Given the description of an element on the screen output the (x, y) to click on. 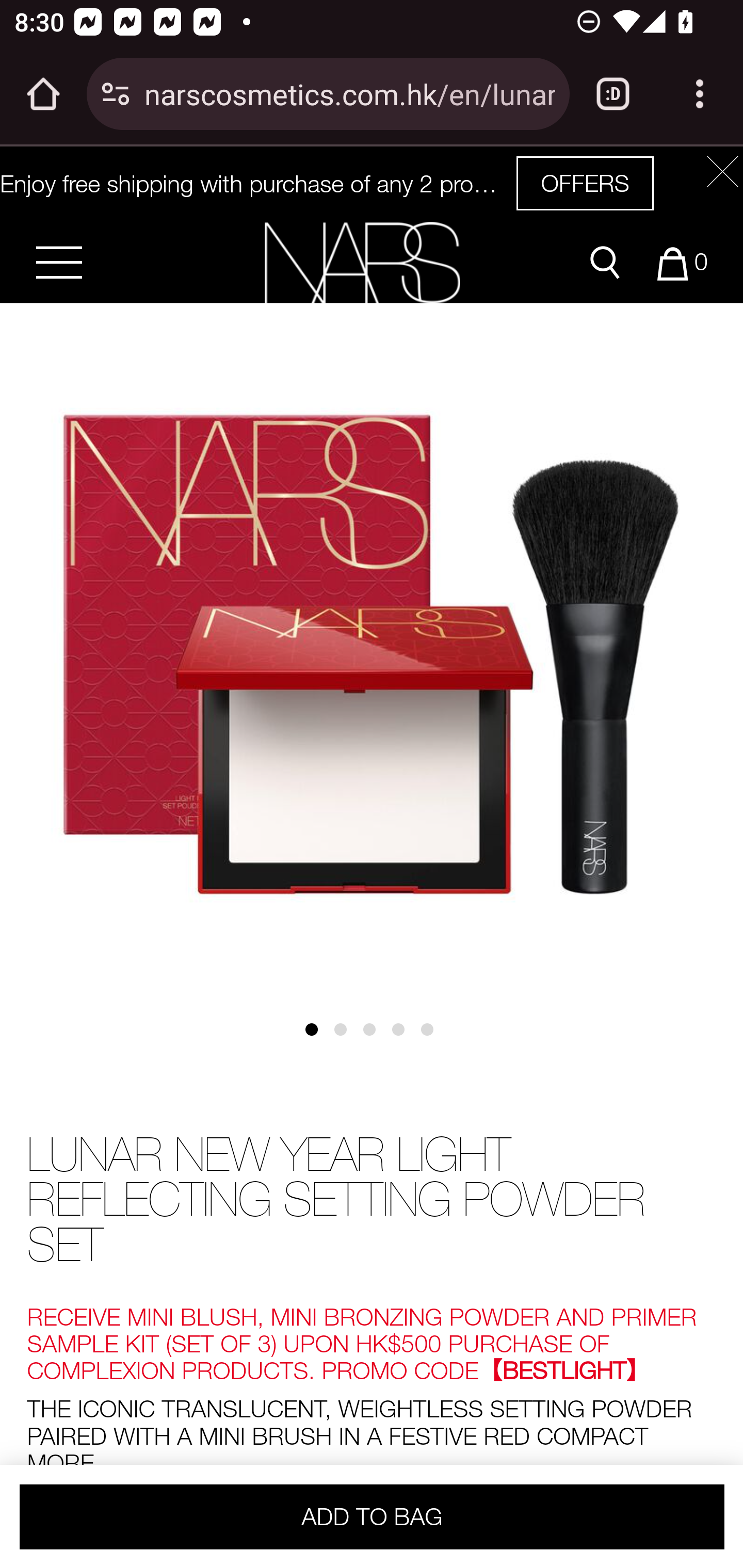
Open the home page (43, 93)
Connection is secure (115, 93)
Switch or close tabs (612, 93)
Customize and control Google Chrome (699, 93)
NARS (361, 261)
WHAT ARE YOU LOOKING FOR? (605, 262)
1 (318, 1037)
LUNAR NEW YEAR LIGHT REFLECTING SETTING POWDER SET (371, 1200)
